Given the description of an element on the screen output the (x, y) to click on. 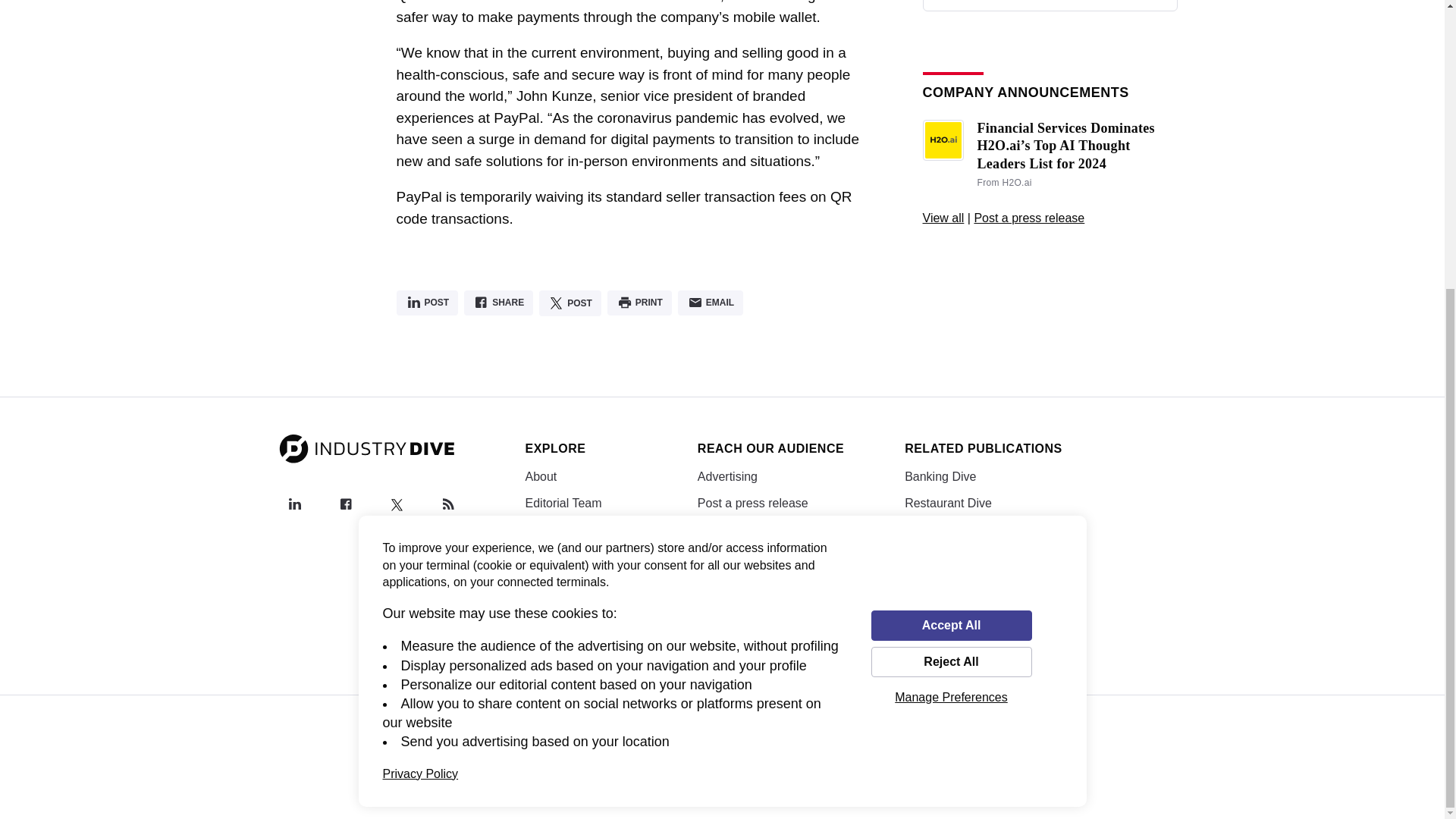
POST (427, 302)
Manage Preferences (950, 258)
Reject All (950, 223)
PRINT (639, 302)
EMAIL (710, 302)
POST (569, 303)
SHARE (498, 302)
Accept All (950, 186)
Privacy Policy (419, 334)
